Given the description of an element on the screen output the (x, y) to click on. 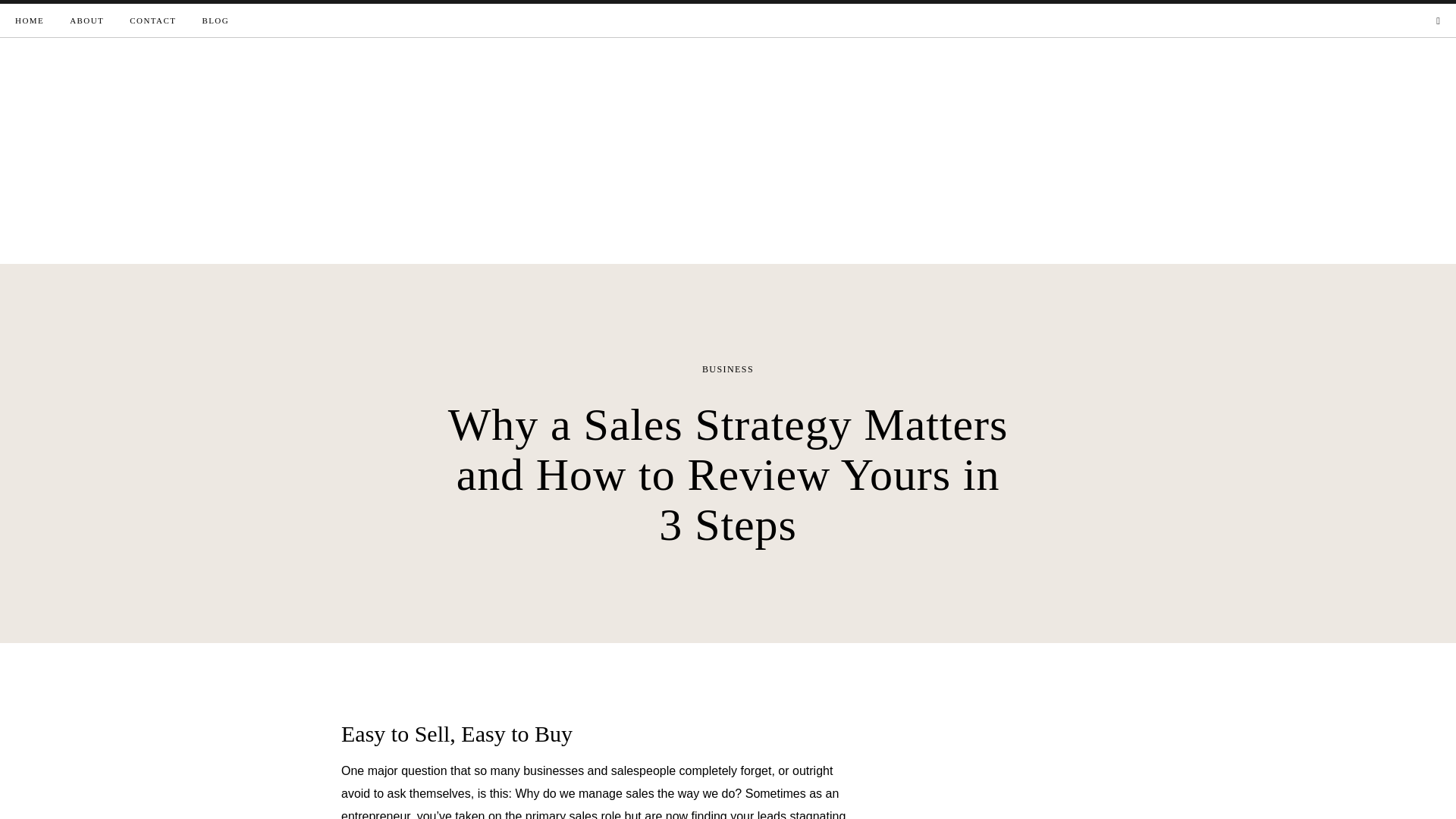
CONTACT (152, 20)
ABOUT (86, 20)
BLOG (215, 20)
HOME (28, 20)
BUSINESS (727, 368)
